Given the description of an element on the screen output the (x, y) to click on. 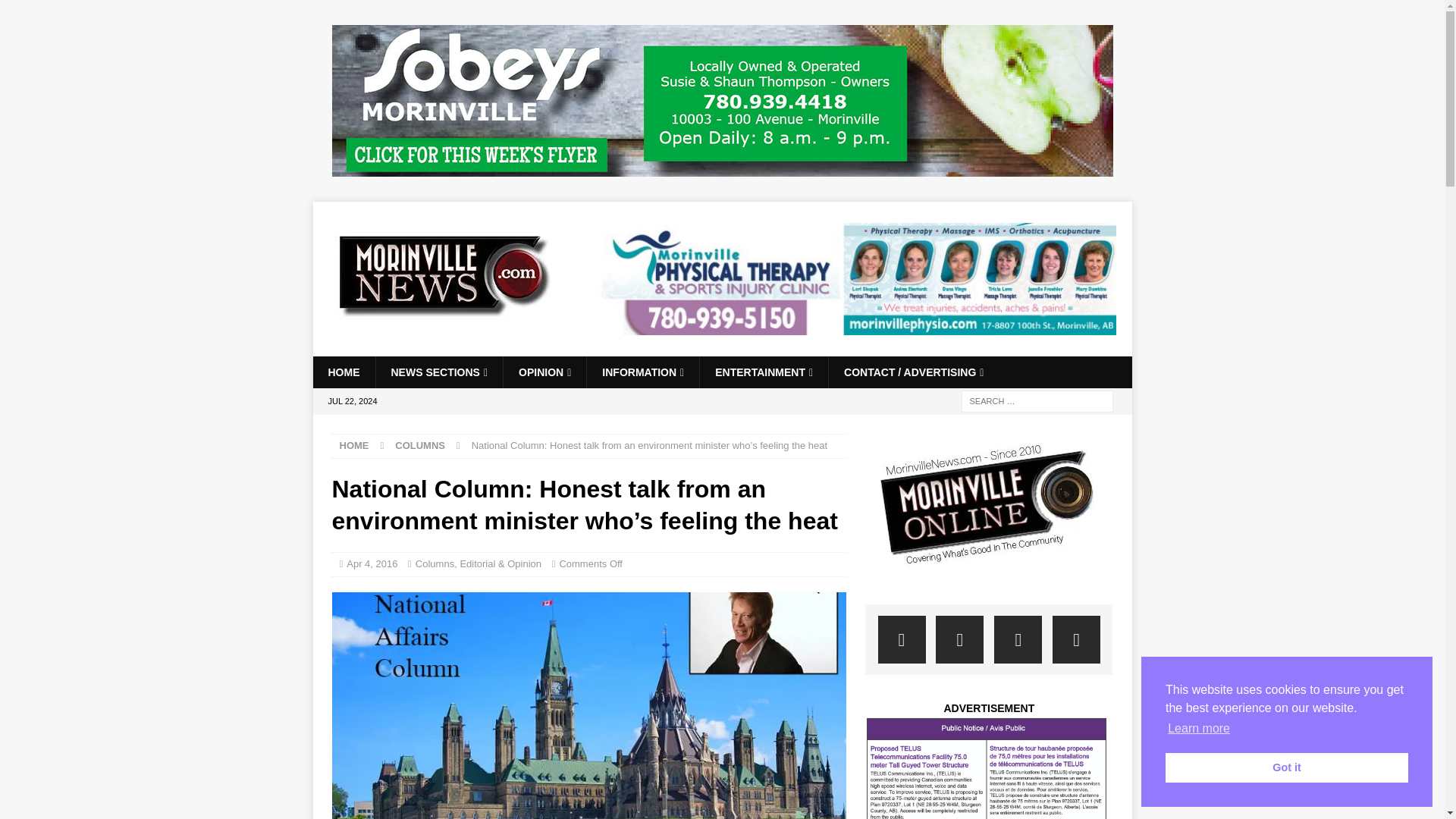
HarperColumn (588, 705)
